Given the description of an element on the screen output the (x, y) to click on. 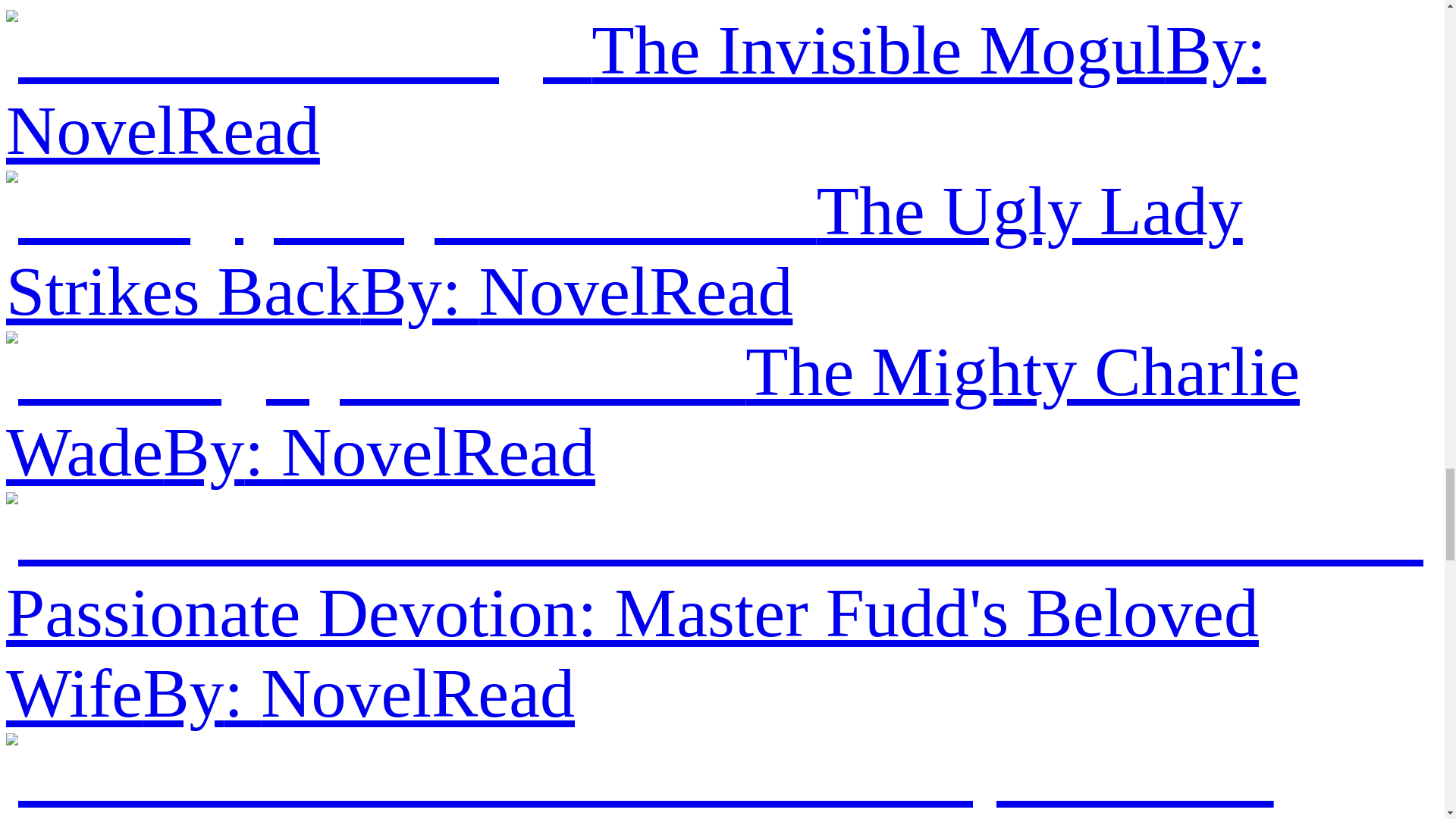
By: NovelRead (358, 693)
The Invisible Mogul (877, 49)
By: NovelRead (379, 451)
By: NovelRead (577, 291)
